Given the description of an element on the screen output the (x, y) to click on. 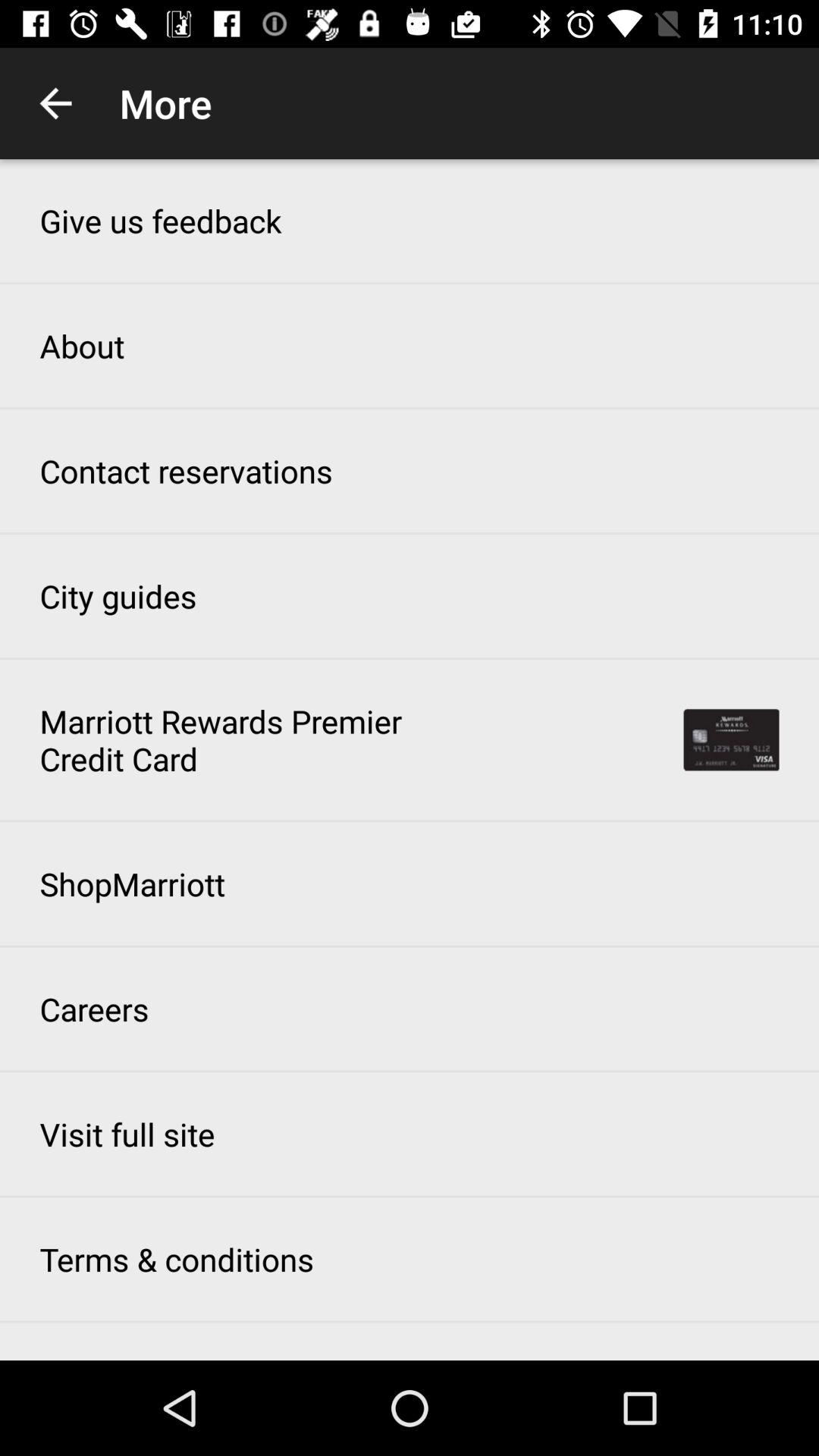
tap item below the marriott rewards premier item (132, 883)
